Given the description of an element on the screen output the (x, y) to click on. 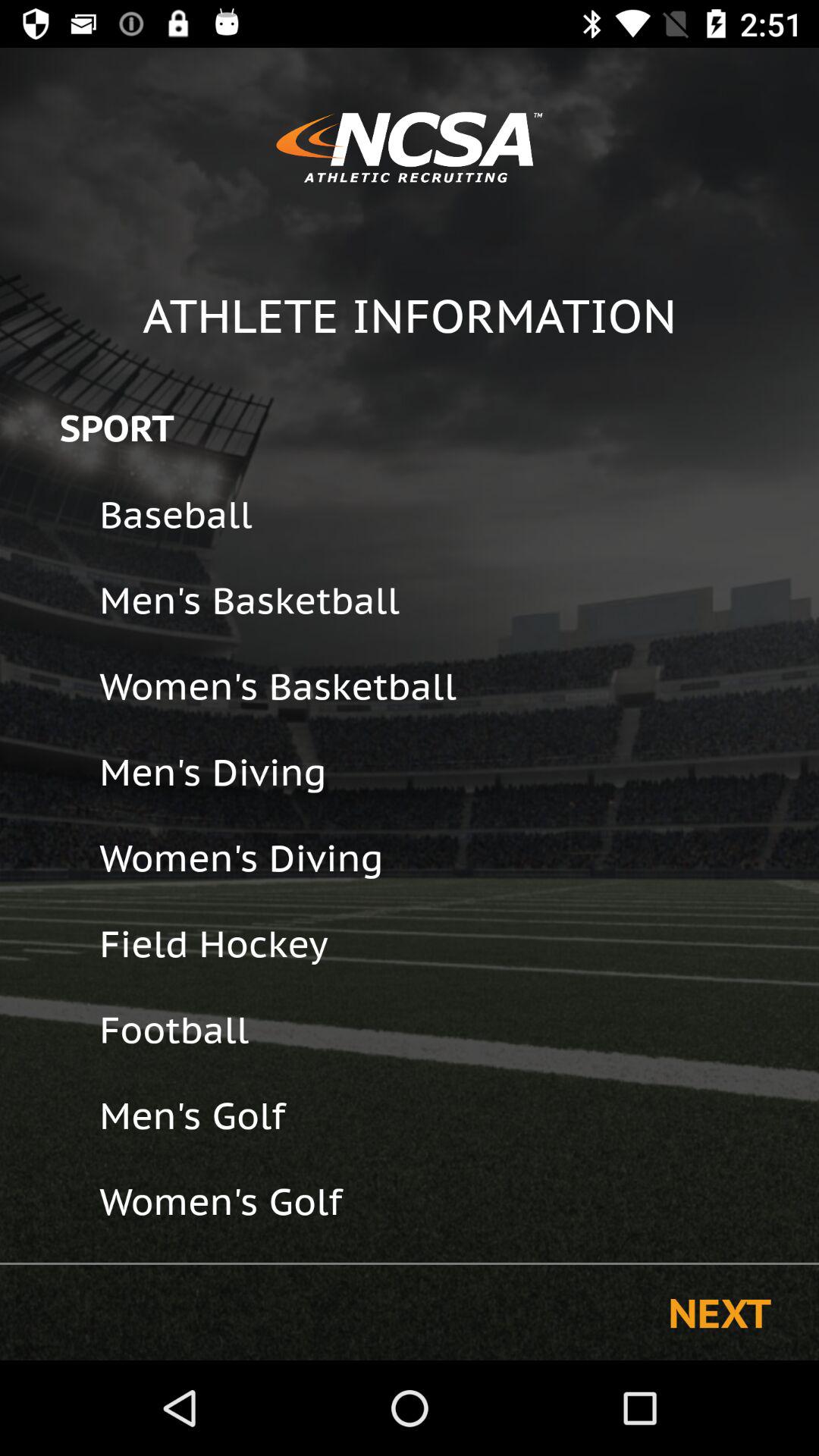
open item above football icon (449, 943)
